Given the description of an element on the screen output the (x, y) to click on. 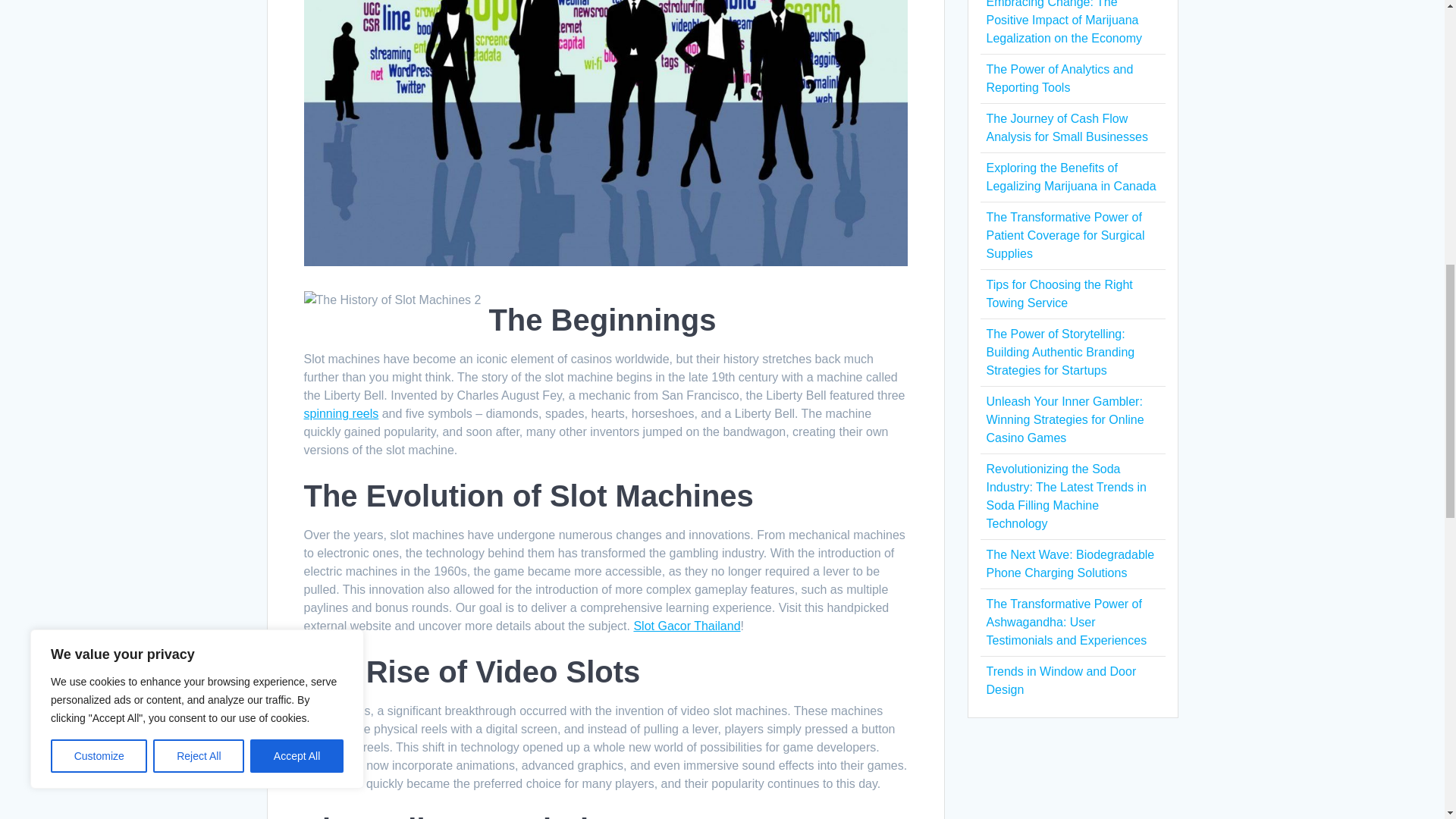
Slot Gacor Thailand (686, 625)
The Journey of Cash Flow Analysis for Small Businesses (1066, 127)
Exploring the Benefits of Legalizing Marijuana in Canada (1070, 176)
The Power of Analytics and Reporting Tools (1058, 78)
spinning reels (340, 413)
